Given the description of an element on the screen output the (x, y) to click on. 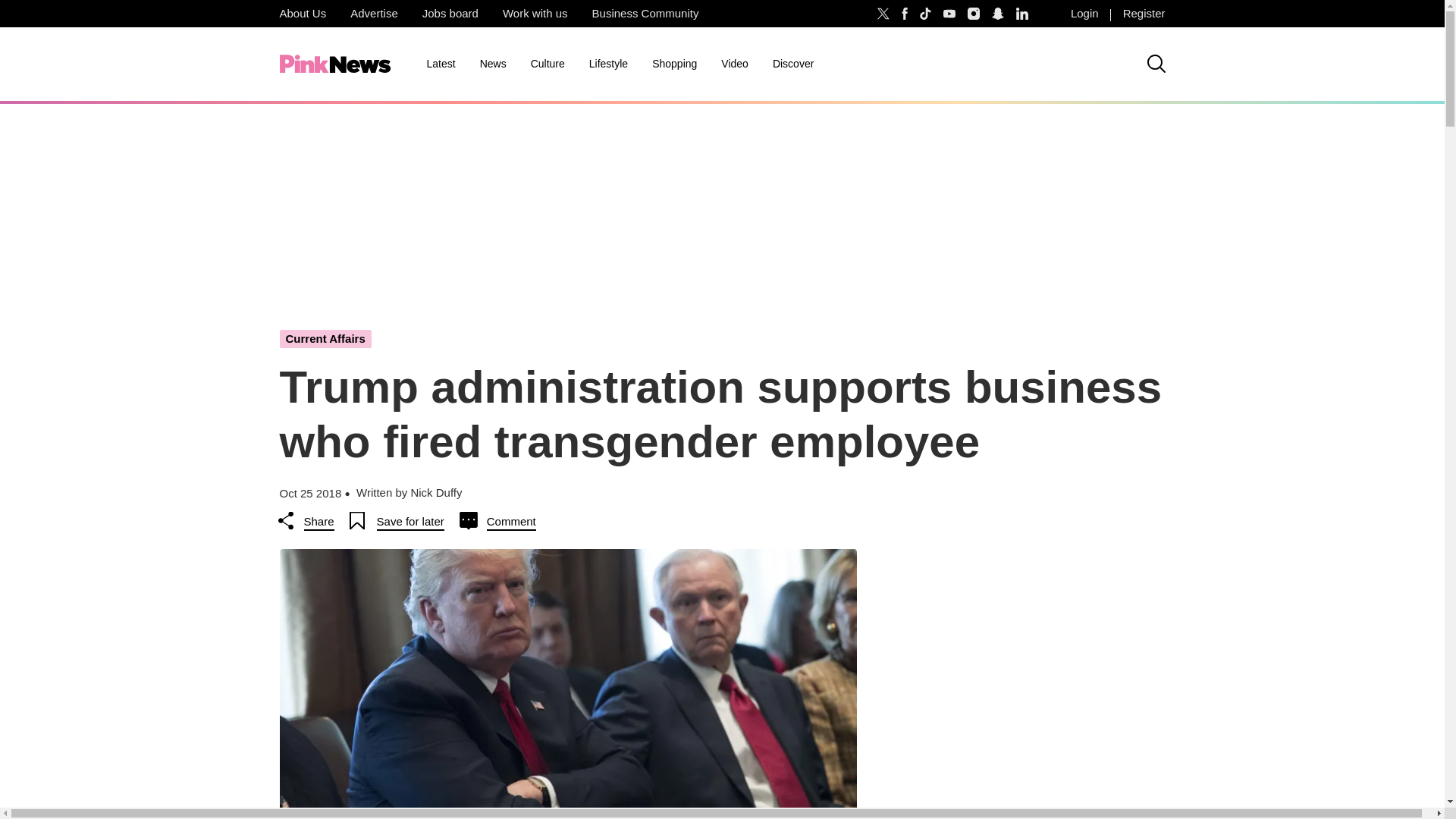
Follow PinkNews on LinkedIn (1021, 13)
Advertise (373, 13)
Culture (547, 63)
Latest (440, 63)
Lifestyle (608, 63)
Work with us (534, 13)
Login (1084, 13)
Jobs board (450, 13)
About Us (301, 13)
News (493, 63)
